Given the description of an element on the screen output the (x, y) to click on. 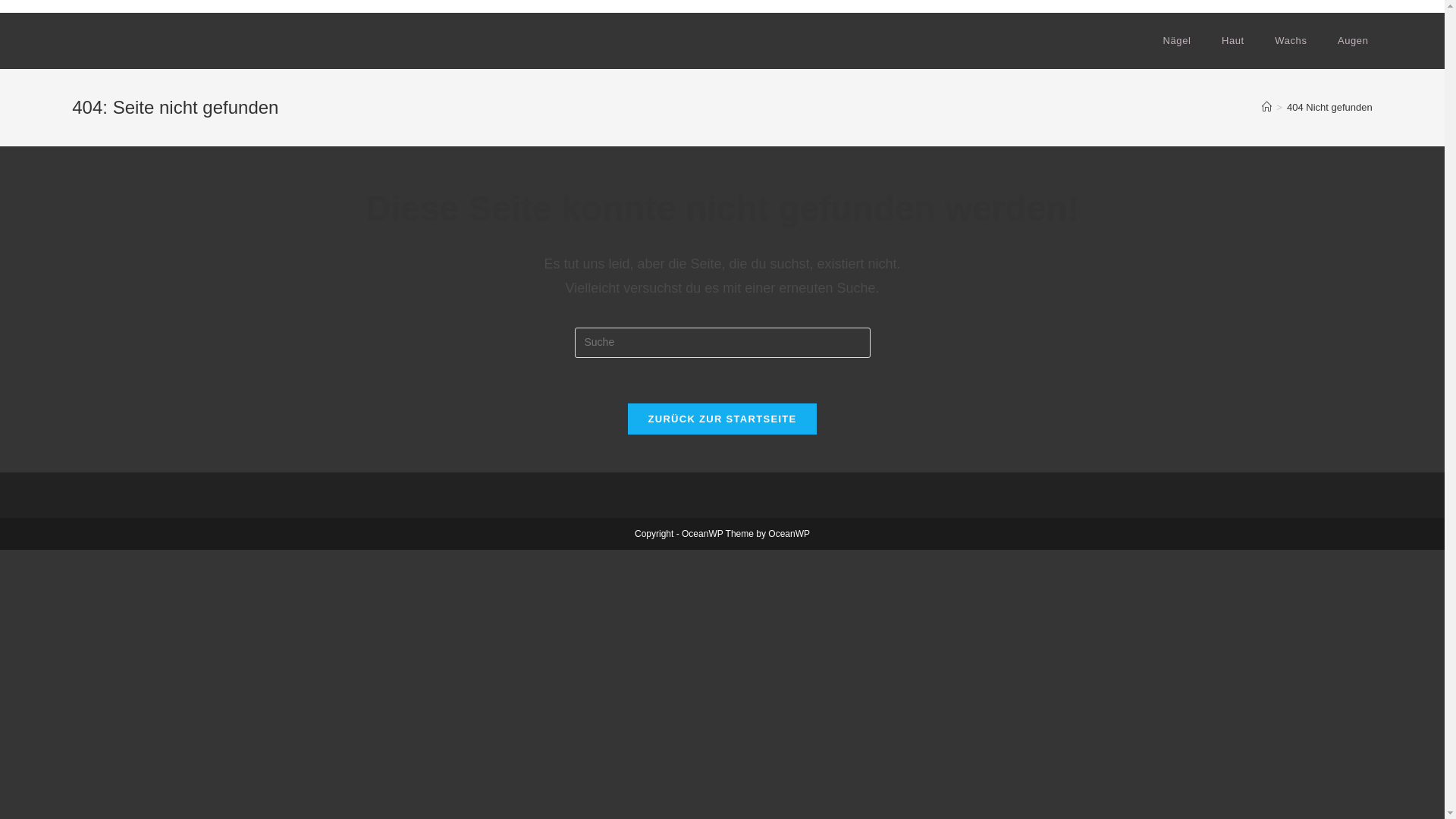
Augen Element type: text (1352, 40)
Haut Element type: text (1232, 40)
Wachs Element type: text (1290, 40)
404 Nicht gefunden Element type: text (1329, 106)
